Given the description of an element on the screen output the (x, y) to click on. 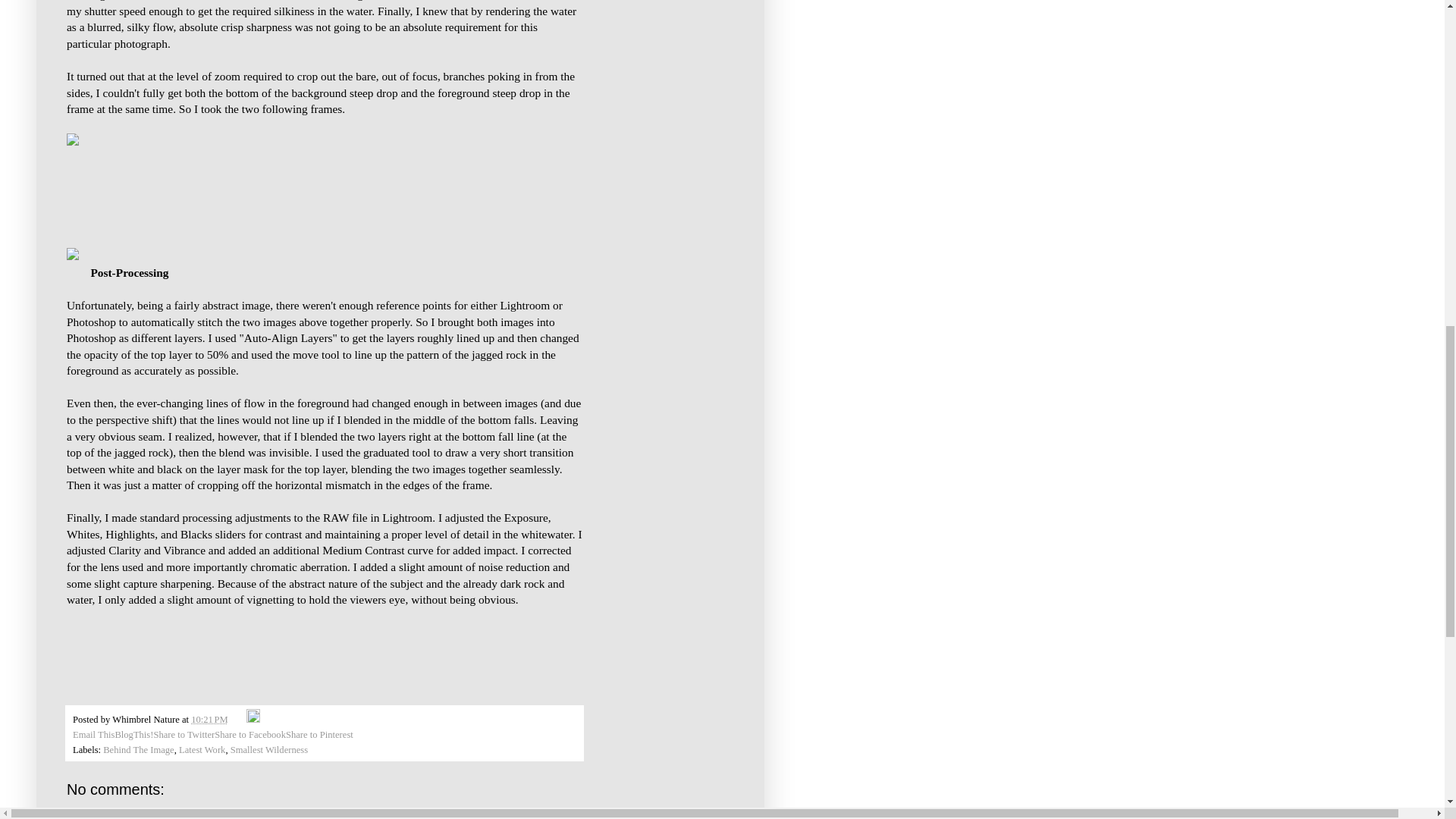
BlogThis! (133, 734)
Latest Work (202, 749)
Email This (93, 734)
Share to Pinterest (319, 734)
BlogThis! (133, 734)
Email This (93, 734)
Share to Twitter (183, 734)
Email Post (238, 719)
Share to Pinterest (319, 734)
Behind The Image (138, 749)
Share to Facebook (249, 734)
Share to Twitter (183, 734)
Smallest Wilderness (268, 749)
Edit Post (253, 719)
